Given the description of an element on the screen output the (x, y) to click on. 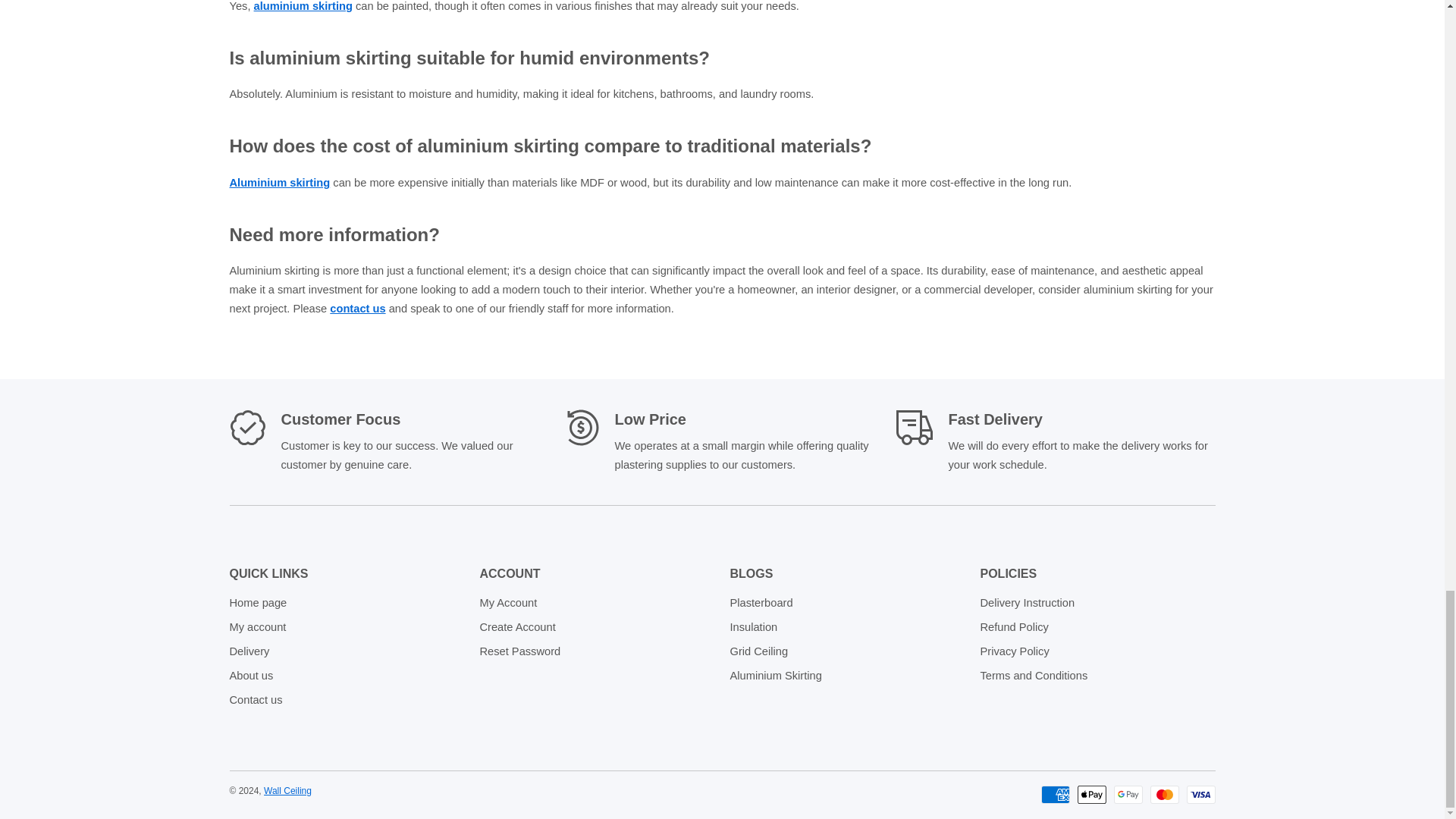
Aluminium Skirting (279, 182)
Contact Us (357, 308)
Aluminium Skirting (302, 6)
